Given the description of an element on the screen output the (x, y) to click on. 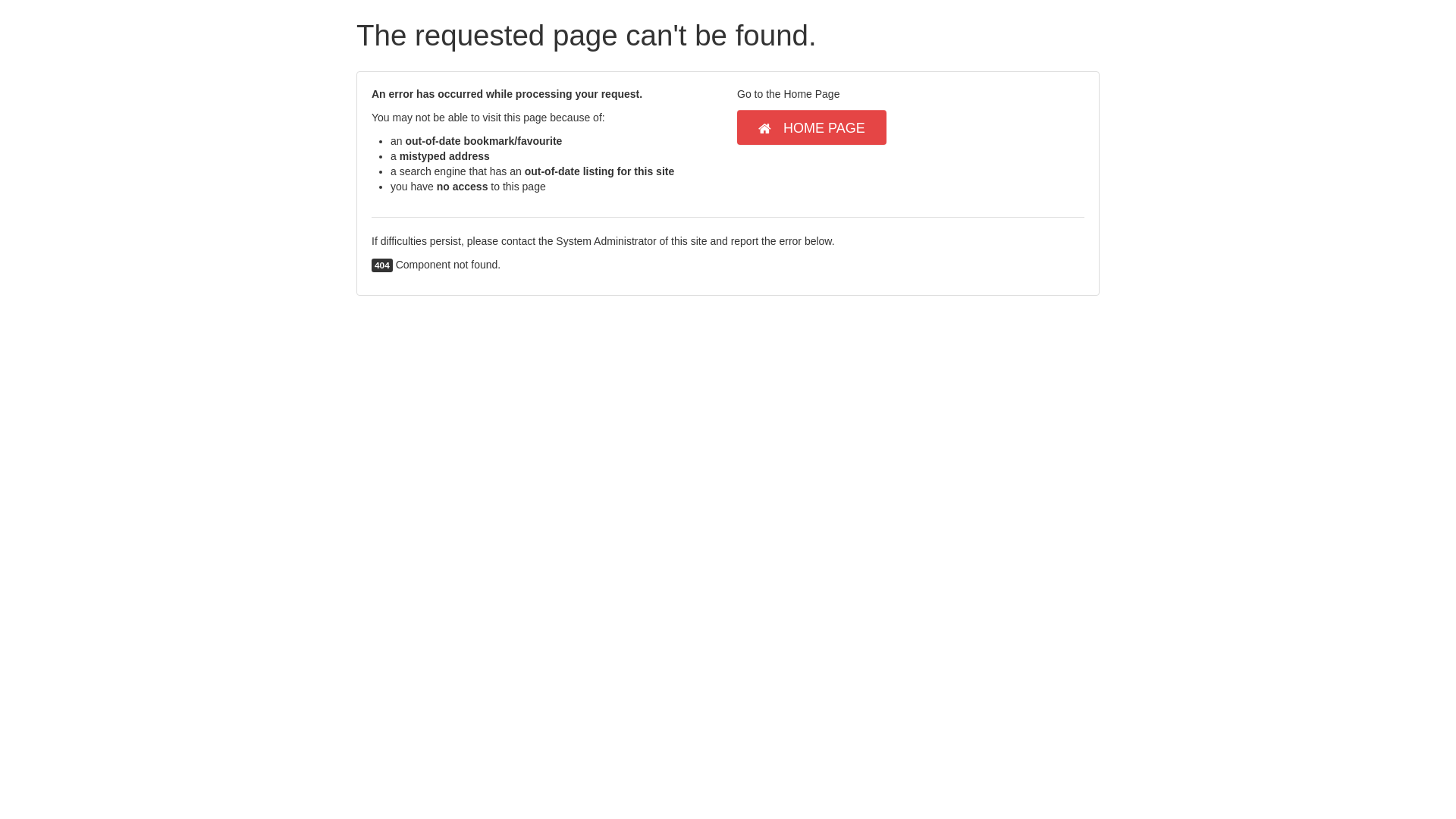
HOME PAGE Element type: text (811, 126)
